Given the description of an element on the screen output the (x, y) to click on. 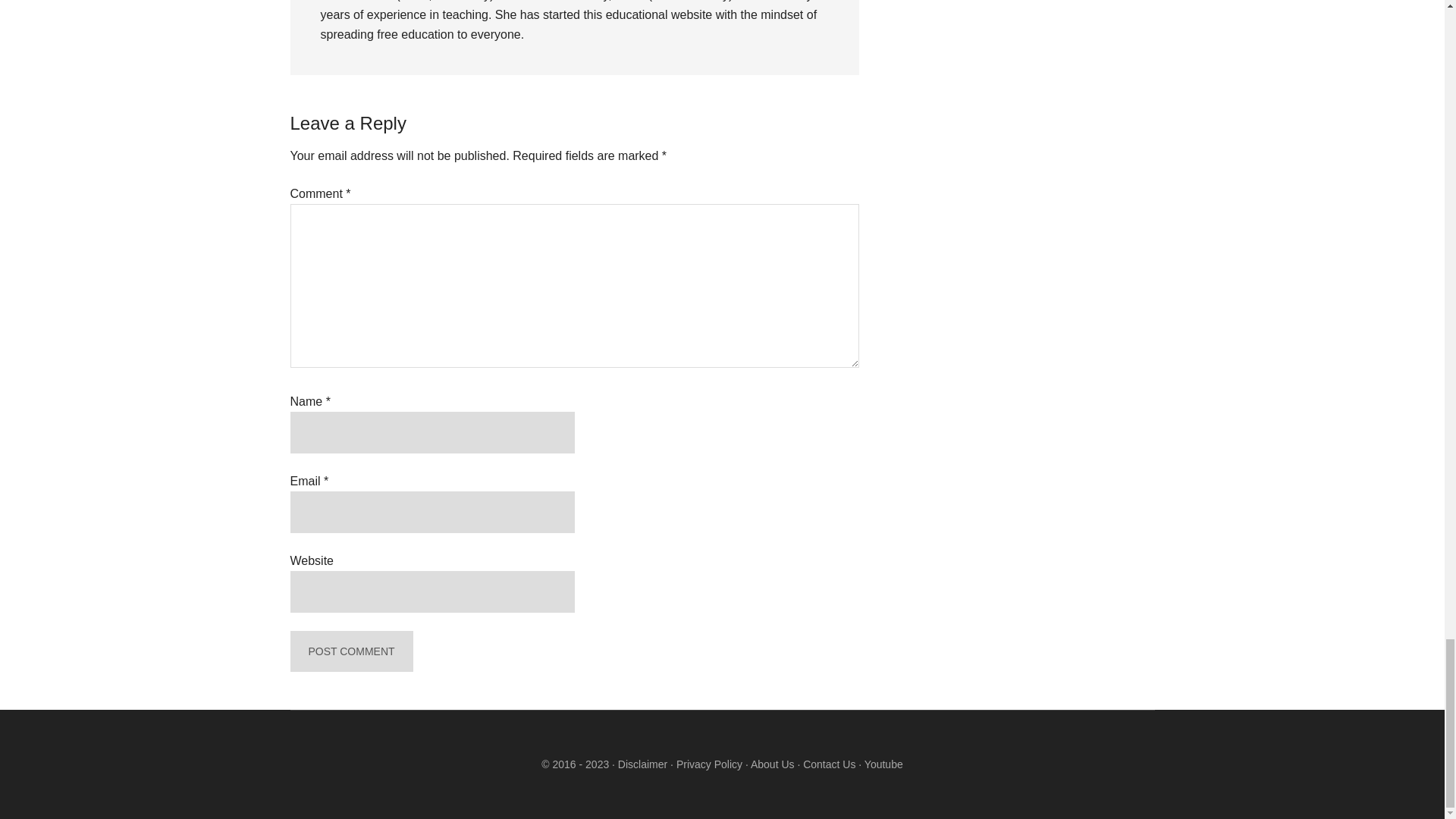
Post Comment (350, 651)
Privacy Policy (708, 764)
Disclaimer (641, 764)
Post Comment (350, 651)
